Given the description of an element on the screen output the (x, y) to click on. 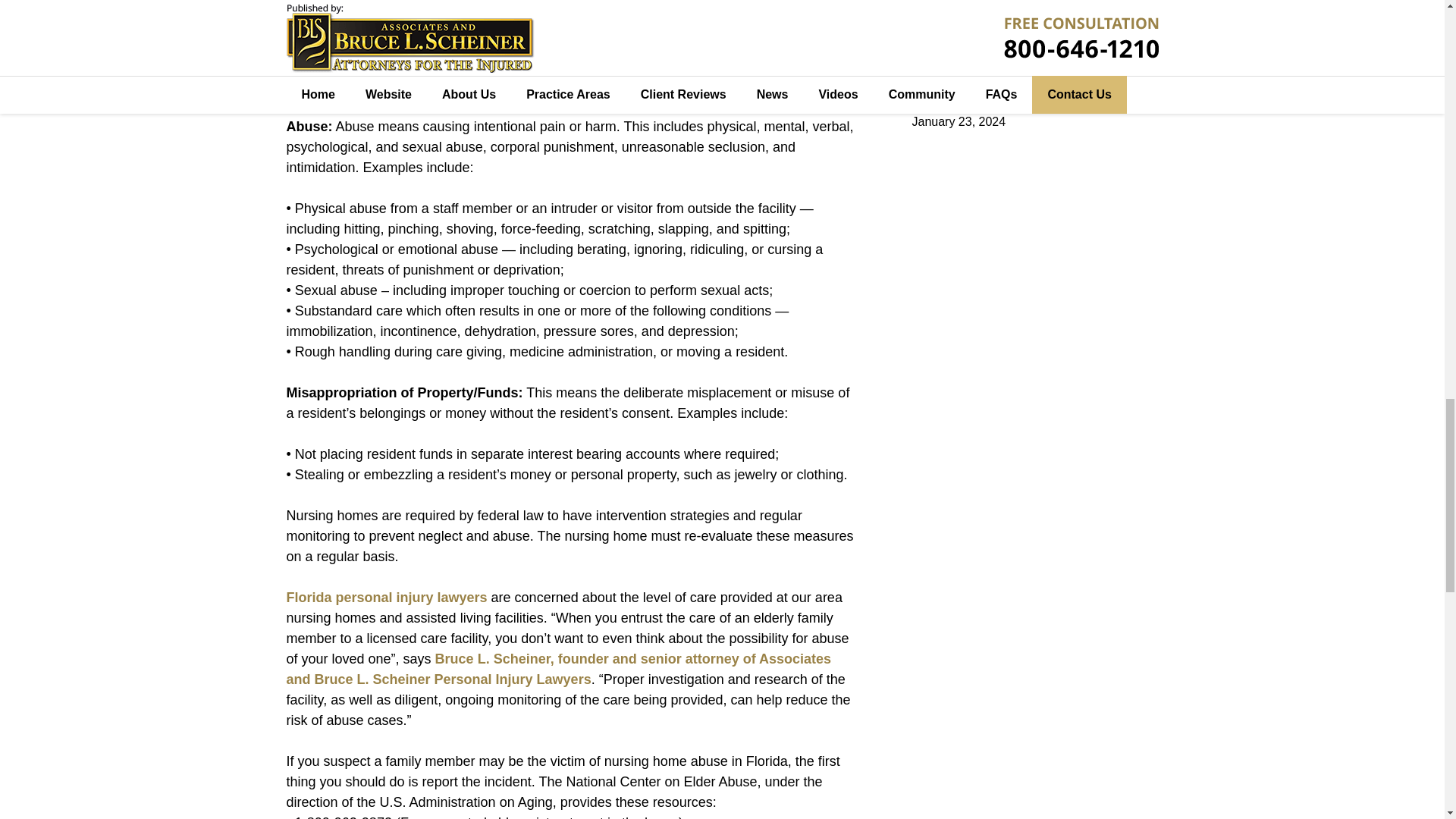
Florida personal injury lawyers (386, 597)
